Given the description of an element on the screen output the (x, y) to click on. 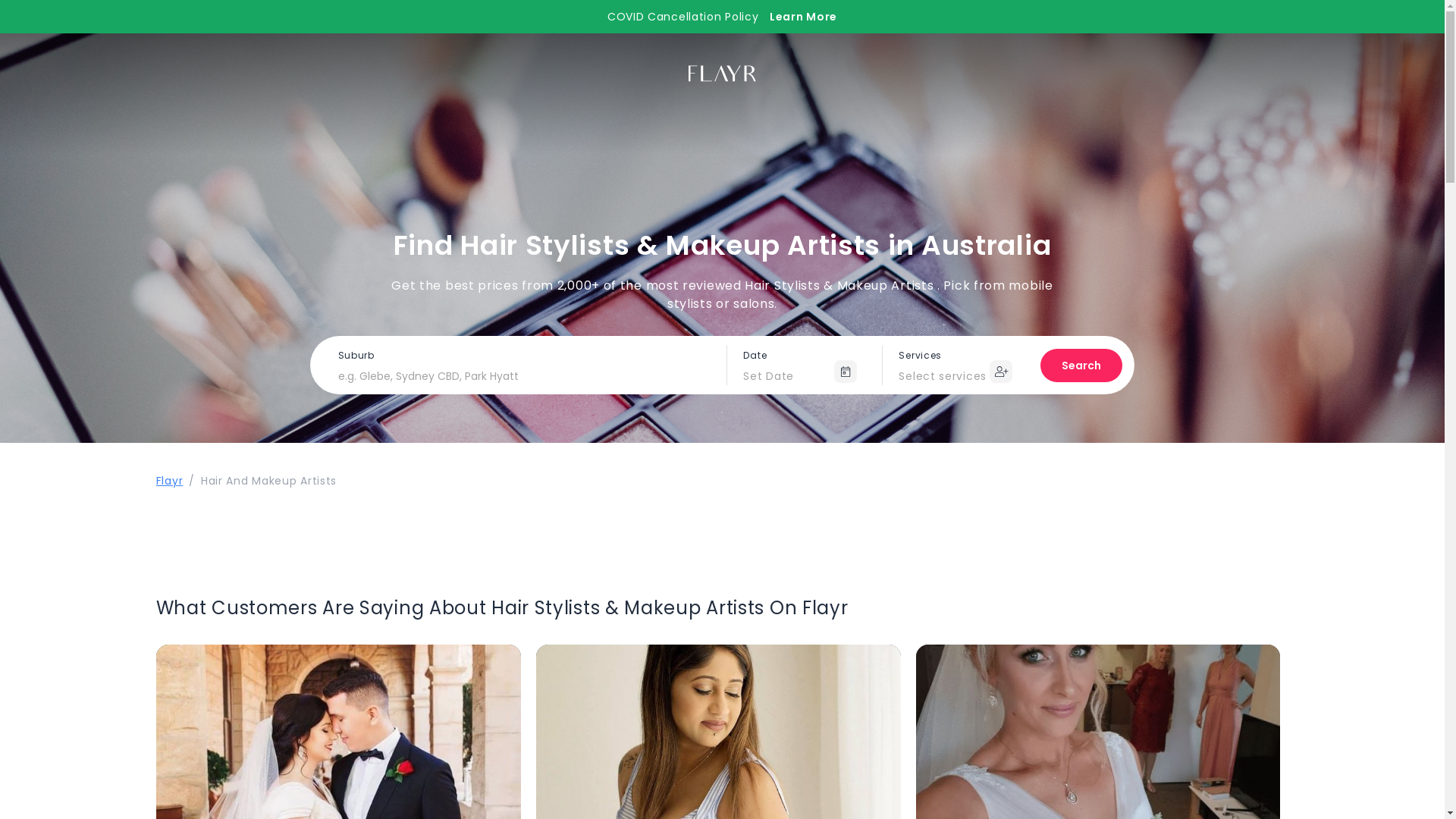
Search Element type: text (1081, 365)
Flayr Element type: text (169, 480)
Hair And Makeup Artists Element type: text (268, 480)
